Given the description of an element on the screen output the (x, y) to click on. 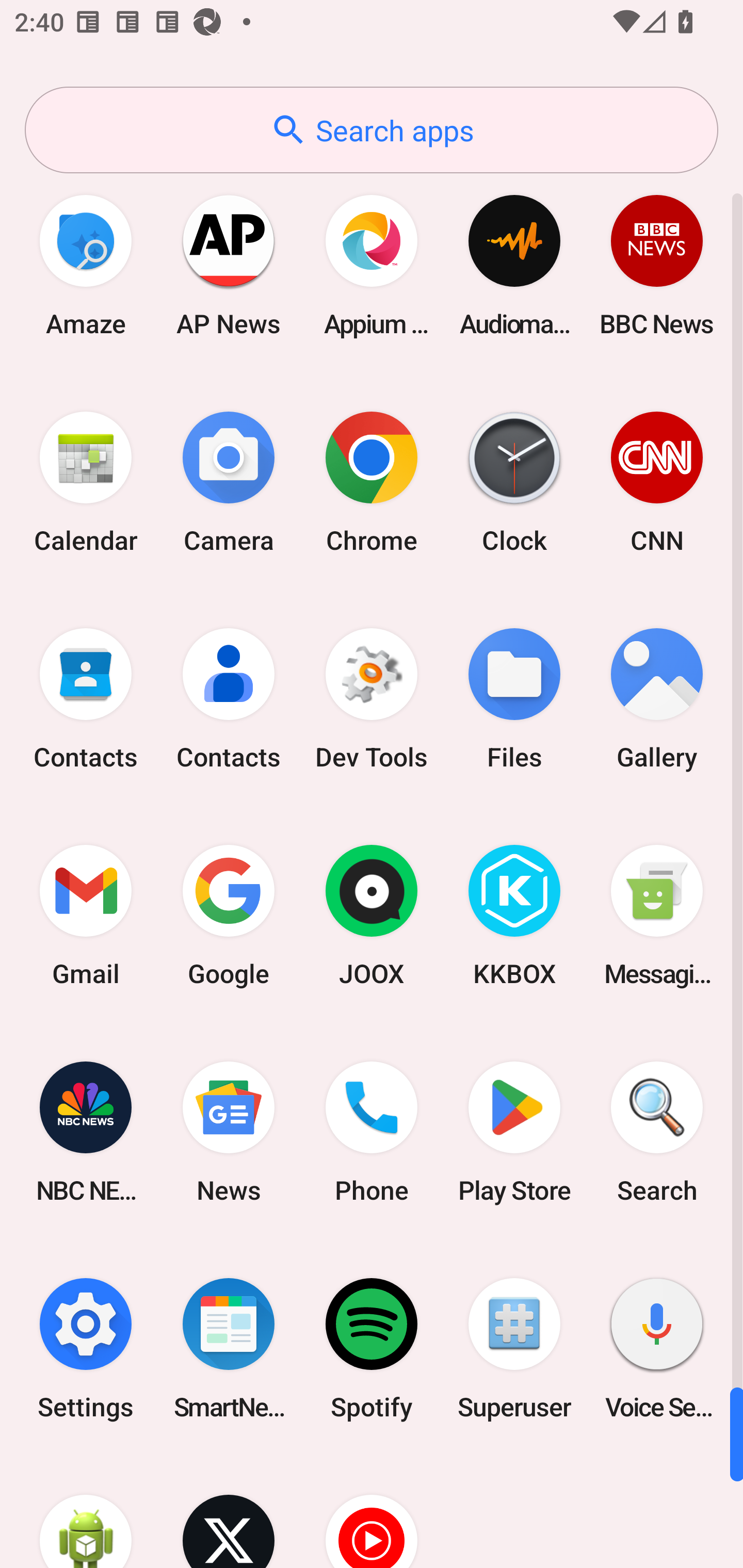
  Search apps (371, 130)
Amaze (85, 264)
AP News (228, 264)
Appium Settings (371, 264)
Audio­mack (514, 264)
BBC News (656, 264)
Calendar (85, 482)
Camera (228, 482)
Chrome (371, 482)
Clock (514, 482)
CNN (656, 482)
Contacts (85, 699)
Contacts (228, 699)
Dev Tools (371, 699)
Files (514, 699)
Gallery (656, 699)
Gmail (85, 915)
Google (228, 915)
JOOX (371, 915)
KKBOX (514, 915)
Messaging (656, 915)
NBC NEWS (85, 1131)
News (228, 1131)
Phone (371, 1131)
Play Store (514, 1131)
Search (656, 1131)
Settings (85, 1348)
SmartNews (228, 1348)
Spotify (371, 1348)
Superuser (514, 1348)
Voice Search (656, 1348)
WebView Browser Tester (85, 1512)
X (228, 1512)
YT Music (371, 1512)
